Given the description of an element on the screen output the (x, y) to click on. 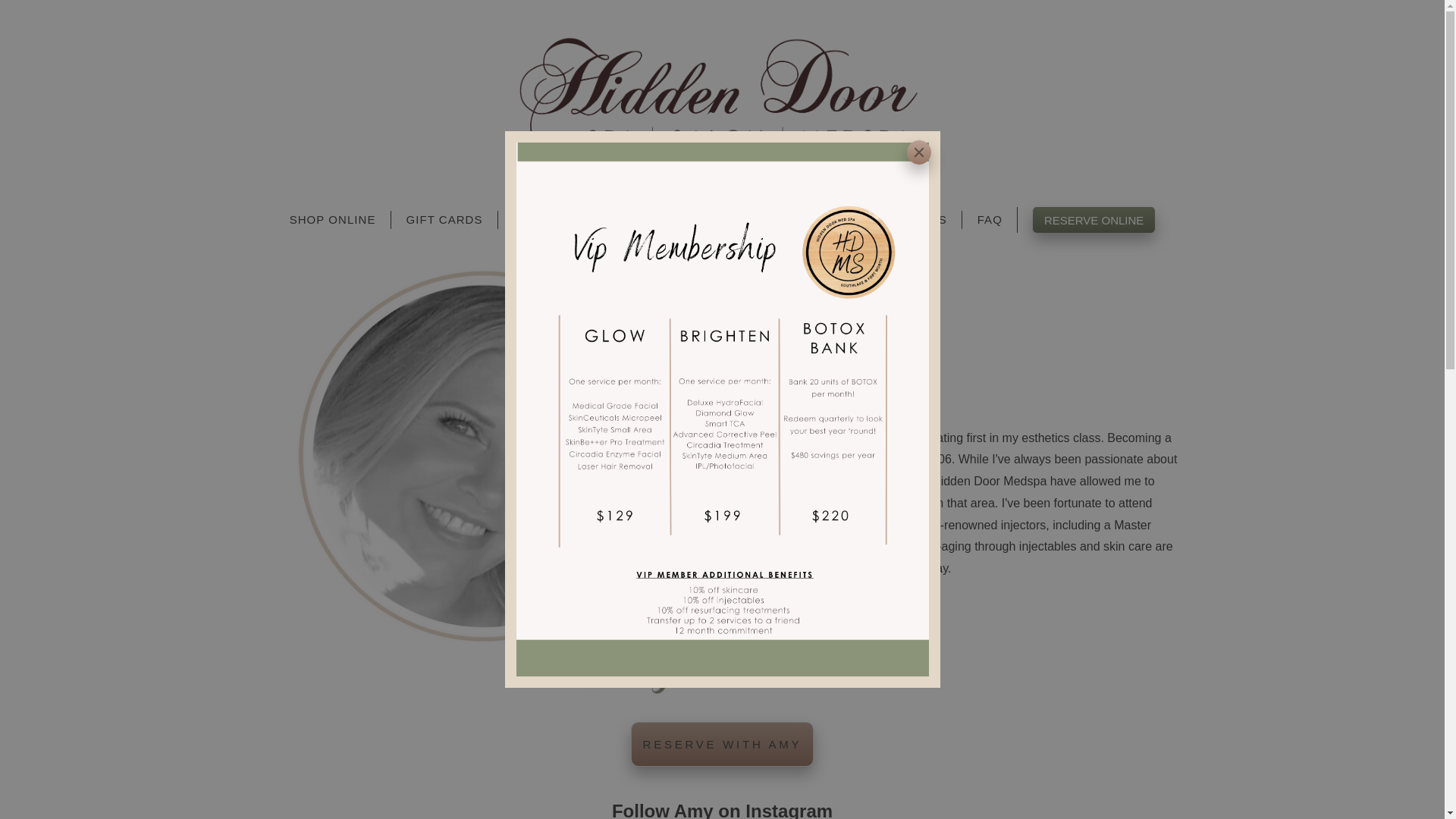
FAQ (989, 220)
Hidden Door (721, 95)
RESERVE WITH AMY (721, 743)
SHOP ONLINE (332, 220)
OPENING DOORS (893, 220)
CAREERS (778, 220)
RESERVE ONLINE (1093, 220)
GIFT CARDS (443, 220)
OUR TEAM (546, 220)
